Given the description of an element on the screen output the (x, y) to click on. 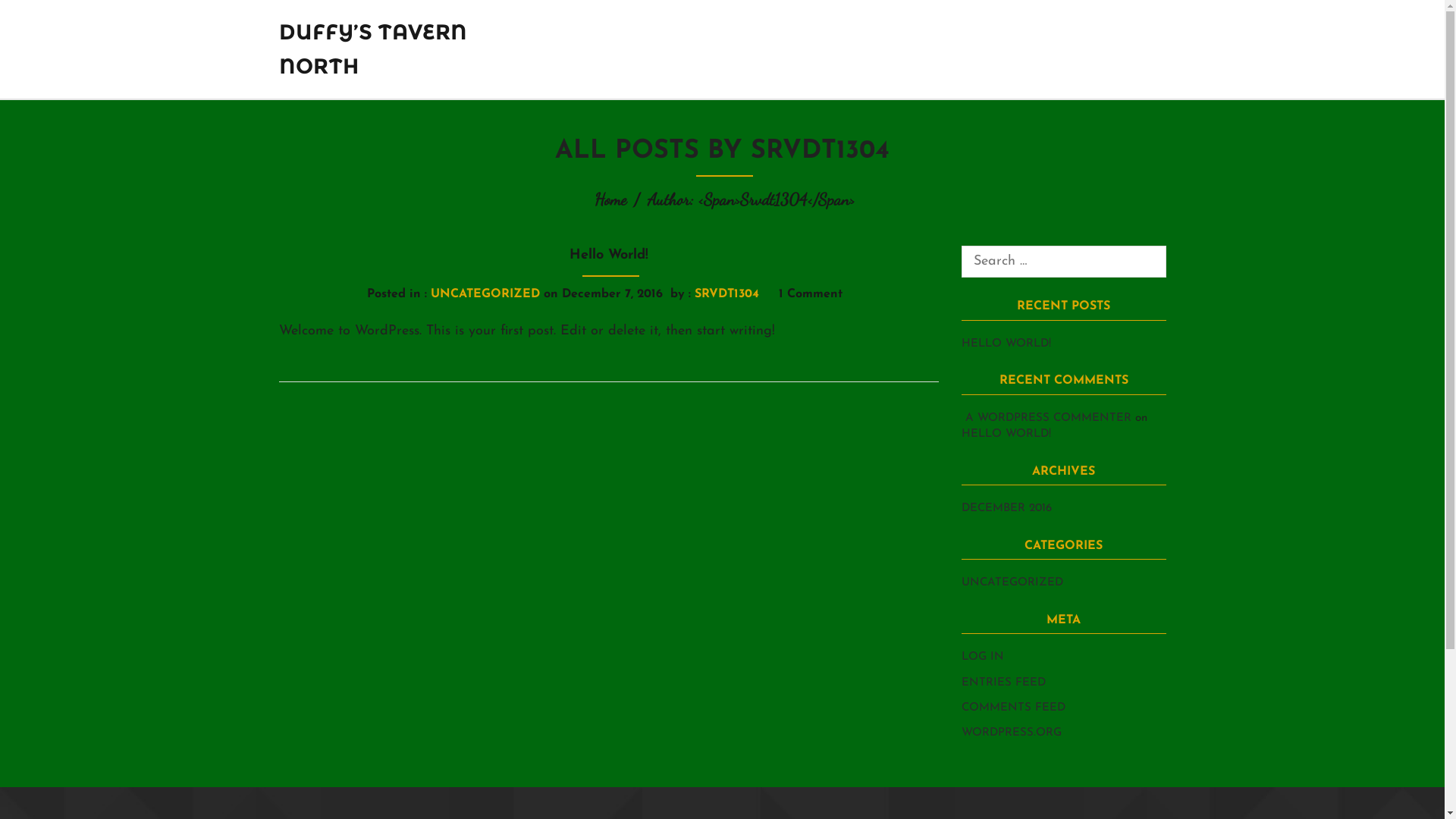
HELLO WORLD! Element type: text (1006, 343)
DECEMBER 2016 Element type: text (1006, 508)
HELLO WORLD! Element type: text (1006, 433)
LOG IN Element type: text (982, 656)
Home Element type: text (609, 199)
A WORDPRESS COMMENTER Element type: text (1047, 417)
Search Element type: text (26, 12)
ENTRIES FEED Element type: text (1003, 682)
SRVDT1304 Element type: text (726, 294)
WORDPRESS.ORG Element type: text (1011, 732)
UNCATEGORIZED Element type: text (1012, 582)
UNCATEGORIZED Element type: text (484, 294)
Hello World! Element type: text (608, 260)
COMMENTS FEED Element type: text (1013, 707)
